Given the description of an element on the screen output the (x, y) to click on. 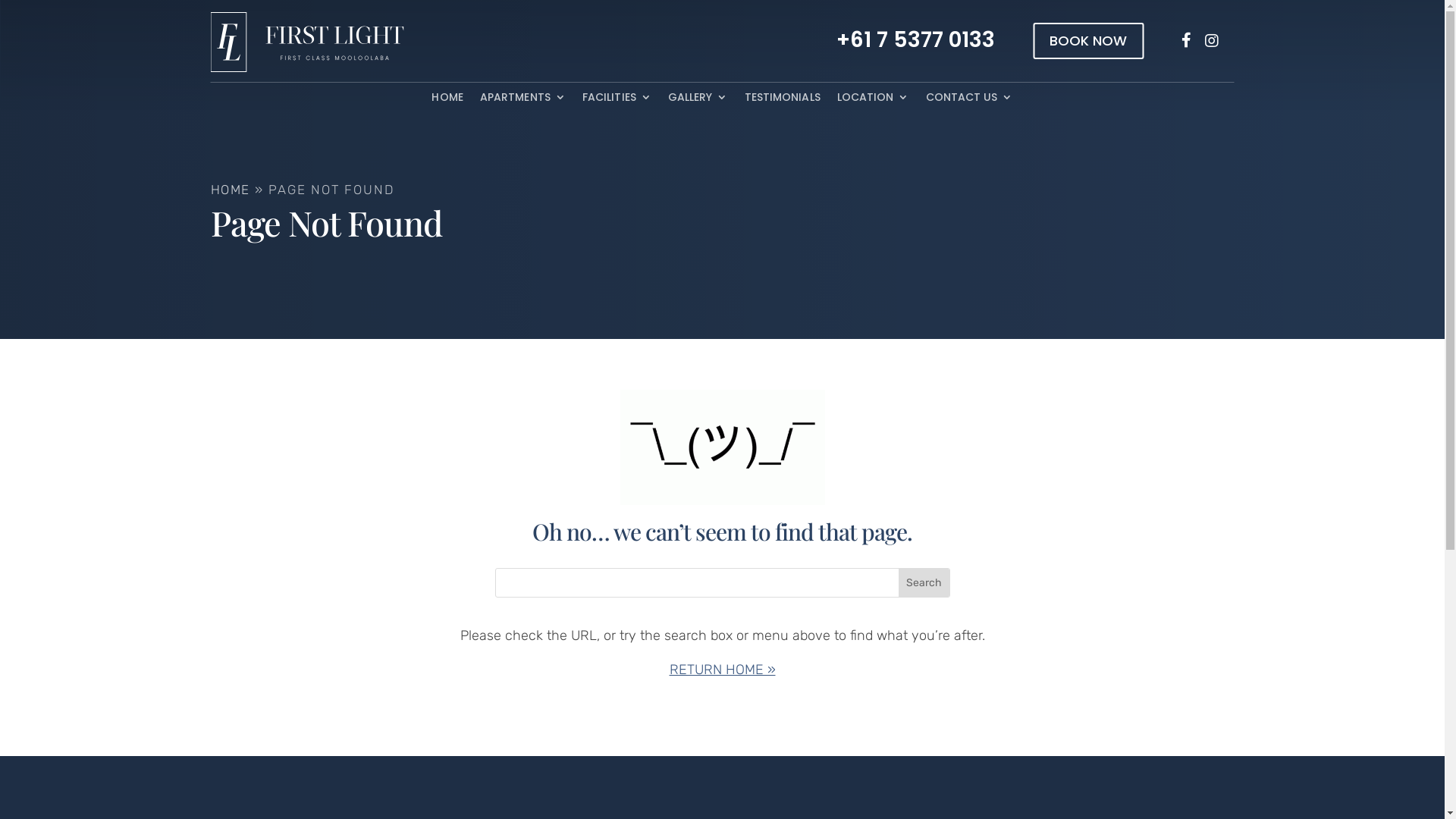
LOCATION Element type: text (873, 99)
Search Element type: text (922, 582)
APARTMENTS Element type: text (522, 99)
+61 7 5377 0133 Element type: text (1096, 39)
shrug Element type: hover (722, 447)
GALLERY Element type: text (698, 99)
FACILITIES Element type: text (616, 99)
FirstLightMooloolaba-logo-wh Element type: hover (307, 42)
TESTIMONIALS Element type: text (782, 99)
BOOK NOW Element type: text (1087, 40)
CONTACT US Element type: text (969, 99)
HOME Element type: text (230, 189)
HOME Element type: text (446, 99)
